Given the description of an element on the screen output the (x, y) to click on. 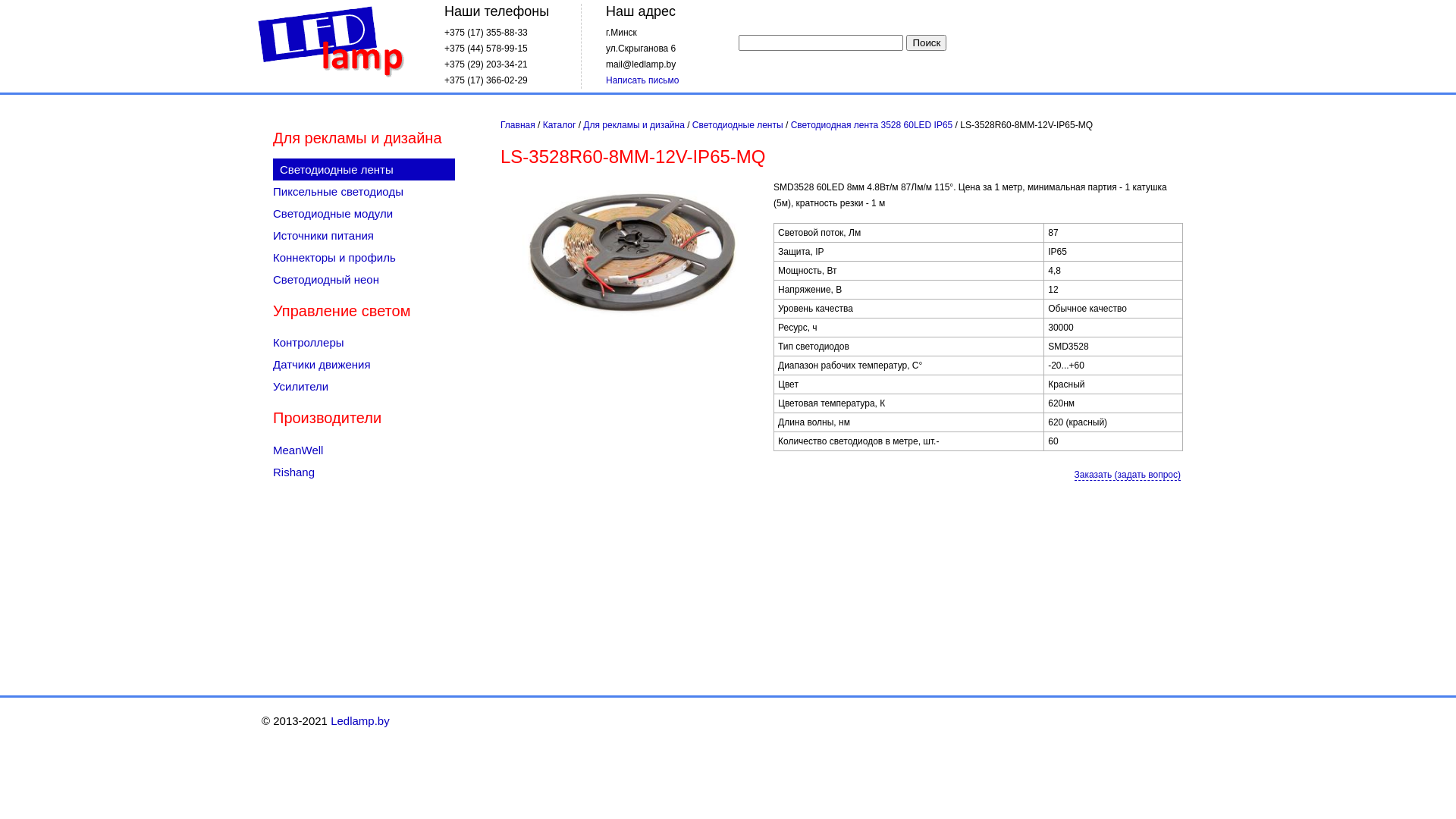
Rishang Element type: text (364, 472)
Ledlamp.by Element type: text (359, 720)
Ledlamp.by Element type: text (330, 42)
MeanWell Element type: text (364, 450)
